Given the description of an element on the screen output the (x, y) to click on. 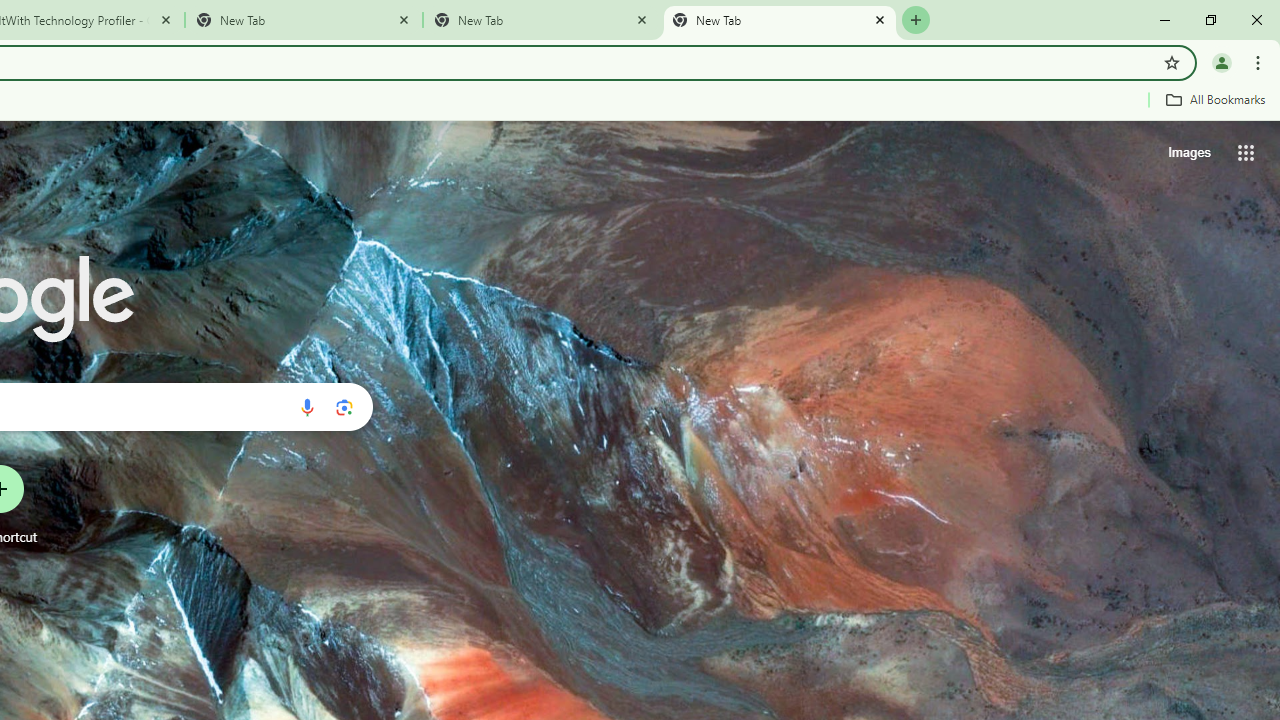
Search by voice (307, 407)
New Tab (779, 20)
Search for Images  (1188, 152)
All Bookmarks (1215, 99)
New Tab (541, 20)
Search by image (344, 407)
